Given the description of an element on the screen output the (x, y) to click on. 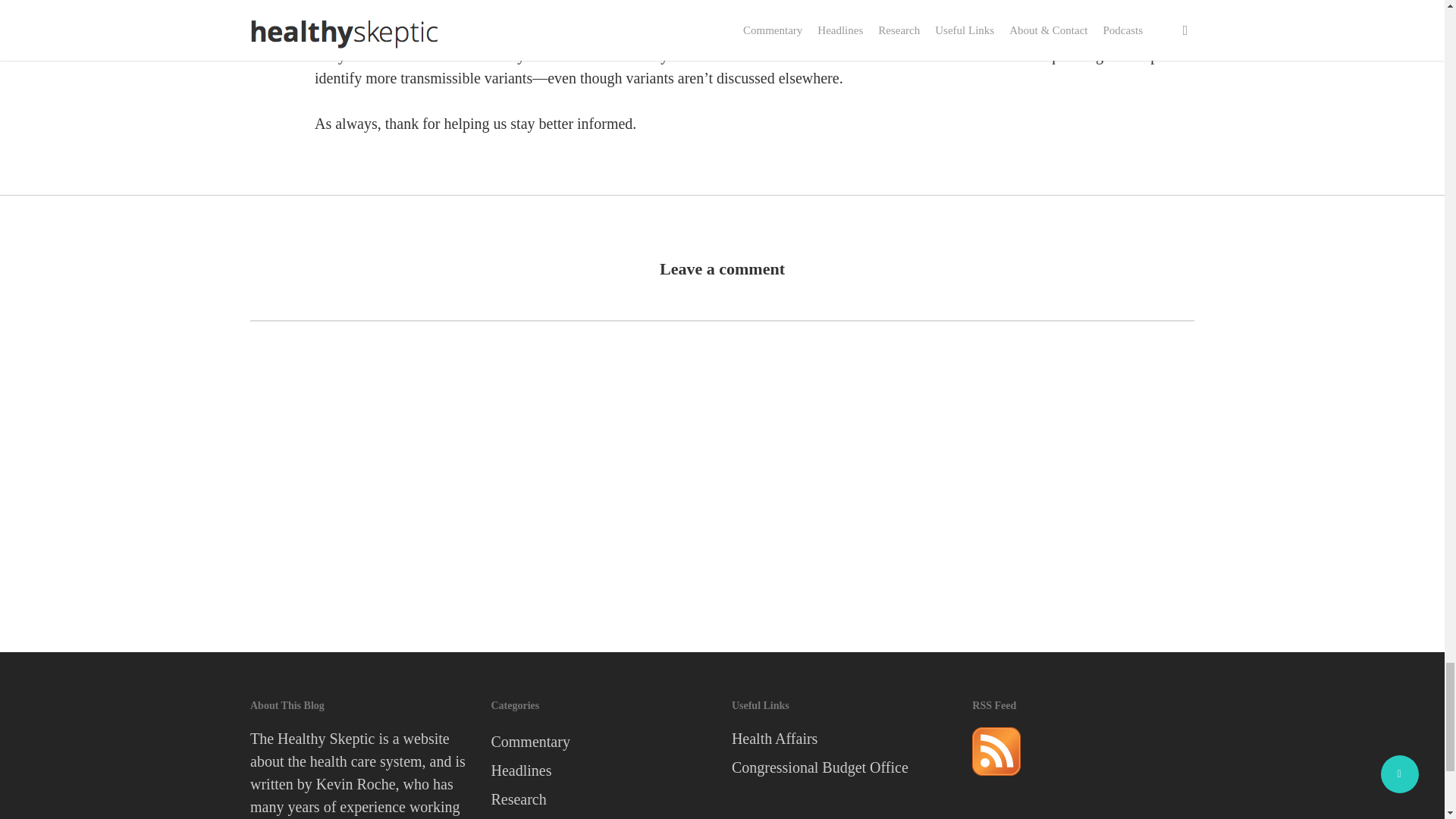
Subscribe to posts (996, 781)
